Given the description of an element on the screen output the (x, y) to click on. 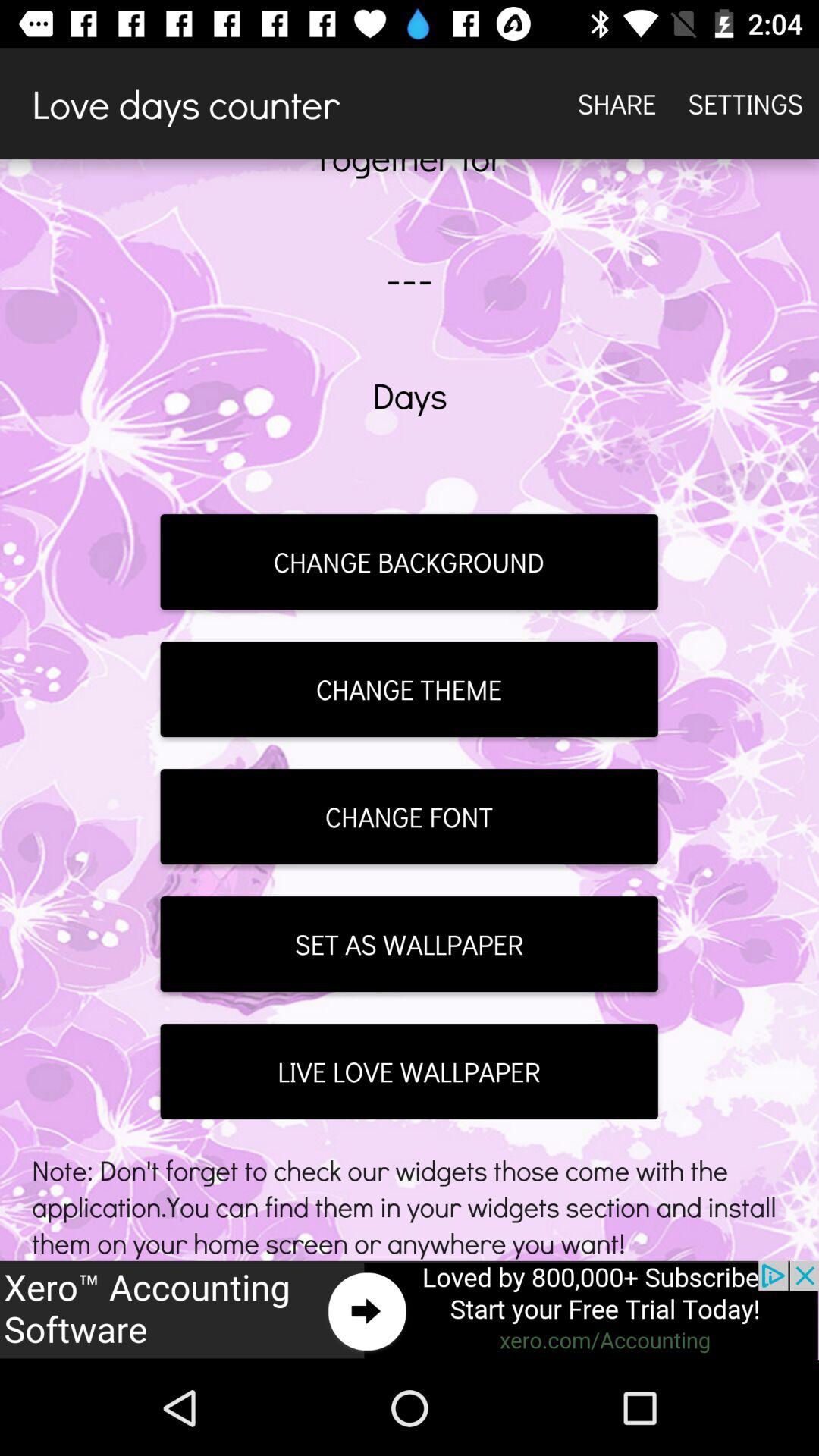
view advertisement (409, 1310)
